Given the description of an element on the screen output the (x, y) to click on. 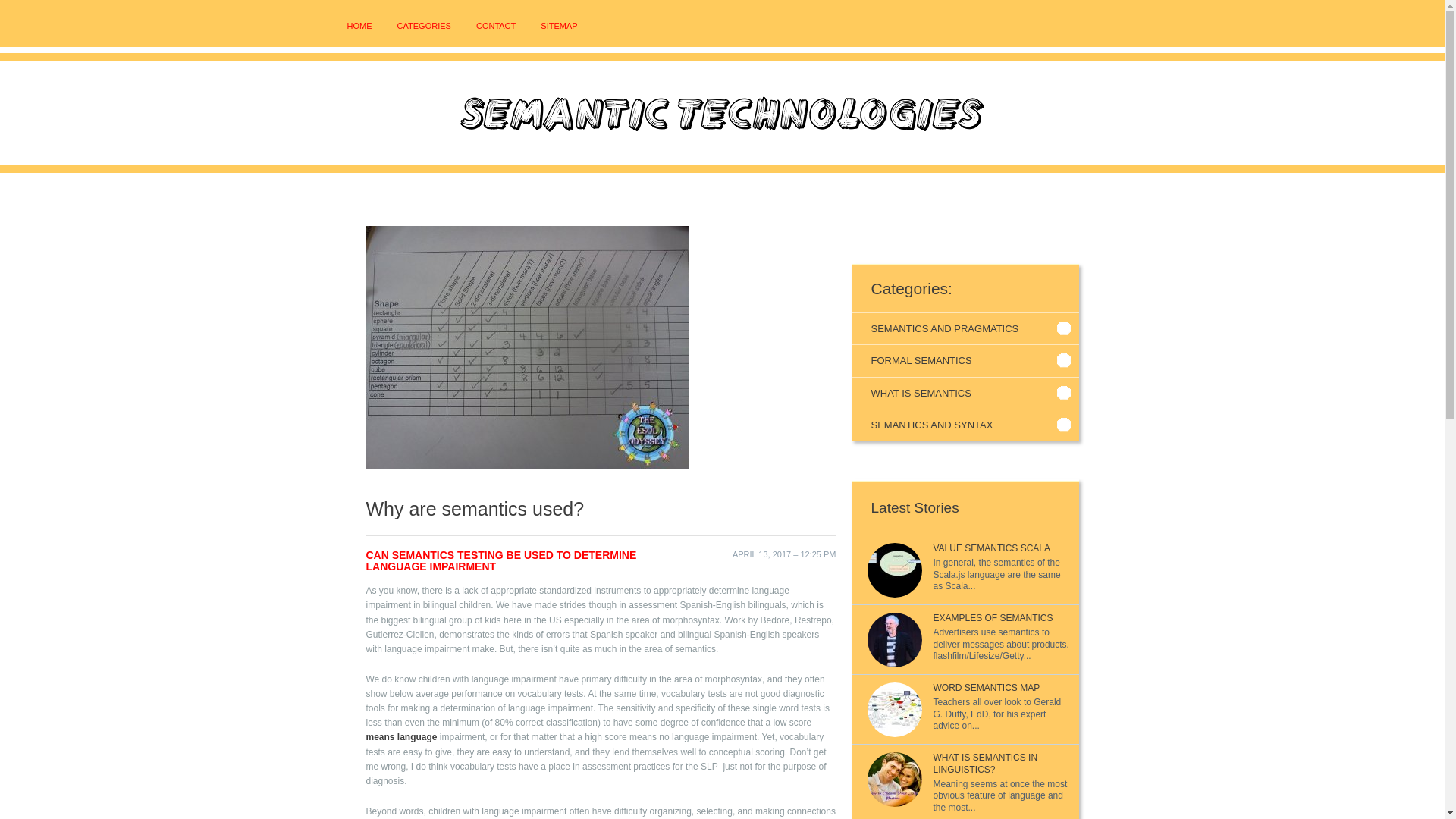
FORMAL SEMANTICS (964, 360)
HOME (359, 26)
SITEMAP (558, 26)
View all posts filed under What Is Semantics (964, 393)
Study of meaning in language (400, 737)
WHAT IS SEMANTICS (964, 393)
means language (400, 737)
View all posts filed under Formal Semantics (964, 360)
SEMANTICS AND SYNTAX (964, 425)
CATEGORIES (424, 26)
SEMANTICS AND PRAGMATICS (964, 328)
View all posts filed under Semantics And Syntax (964, 425)
View all posts filed under Semantics And Pragmatics (964, 328)
WORD SEMANTICS MAP (986, 687)
